Given the description of an element on the screen output the (x, y) to click on. 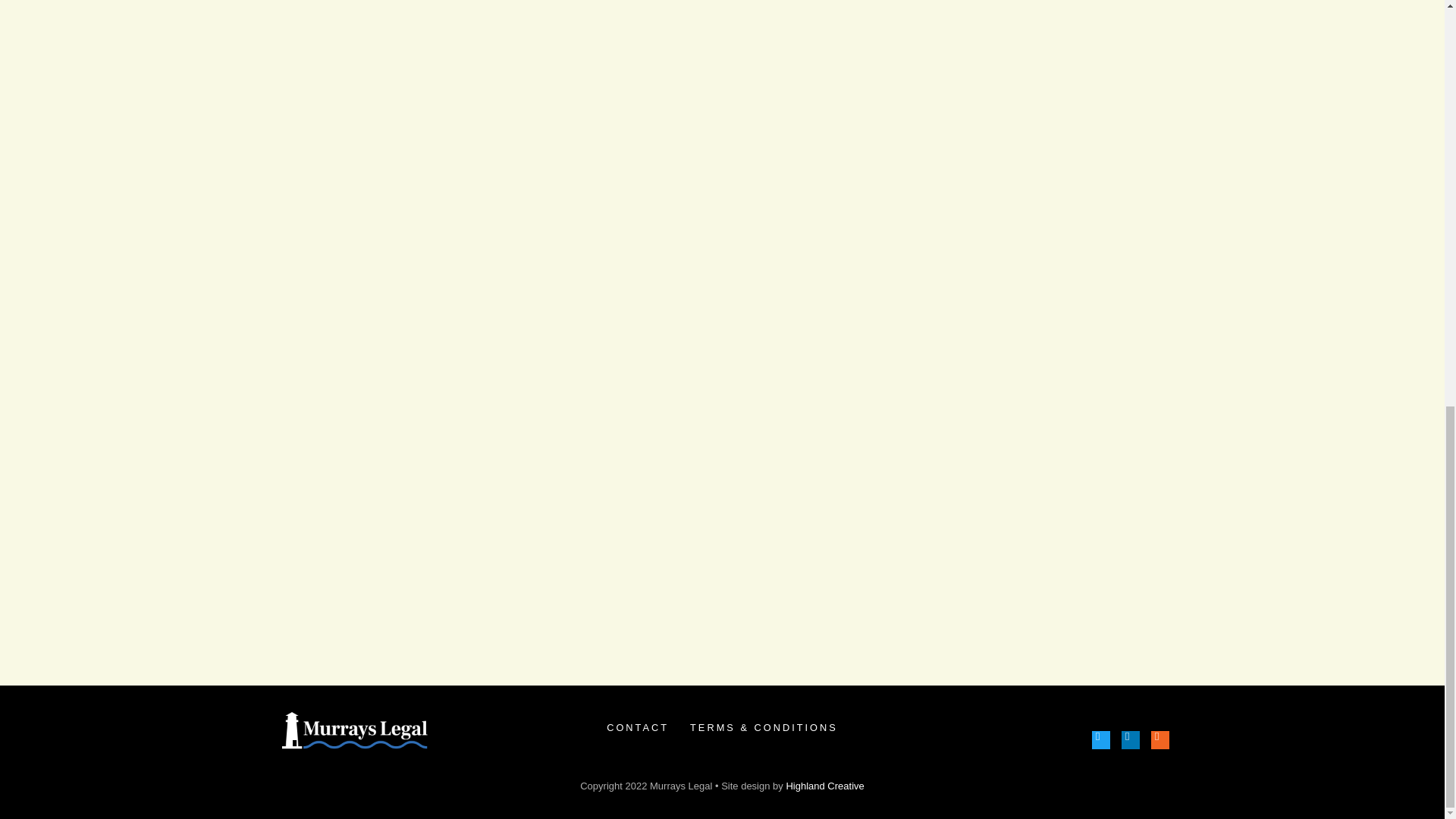
CONTACT (637, 727)
Highland Creative (824, 785)
Post Comment (342, 635)
